Given the description of an element on the screen output the (x, y) to click on. 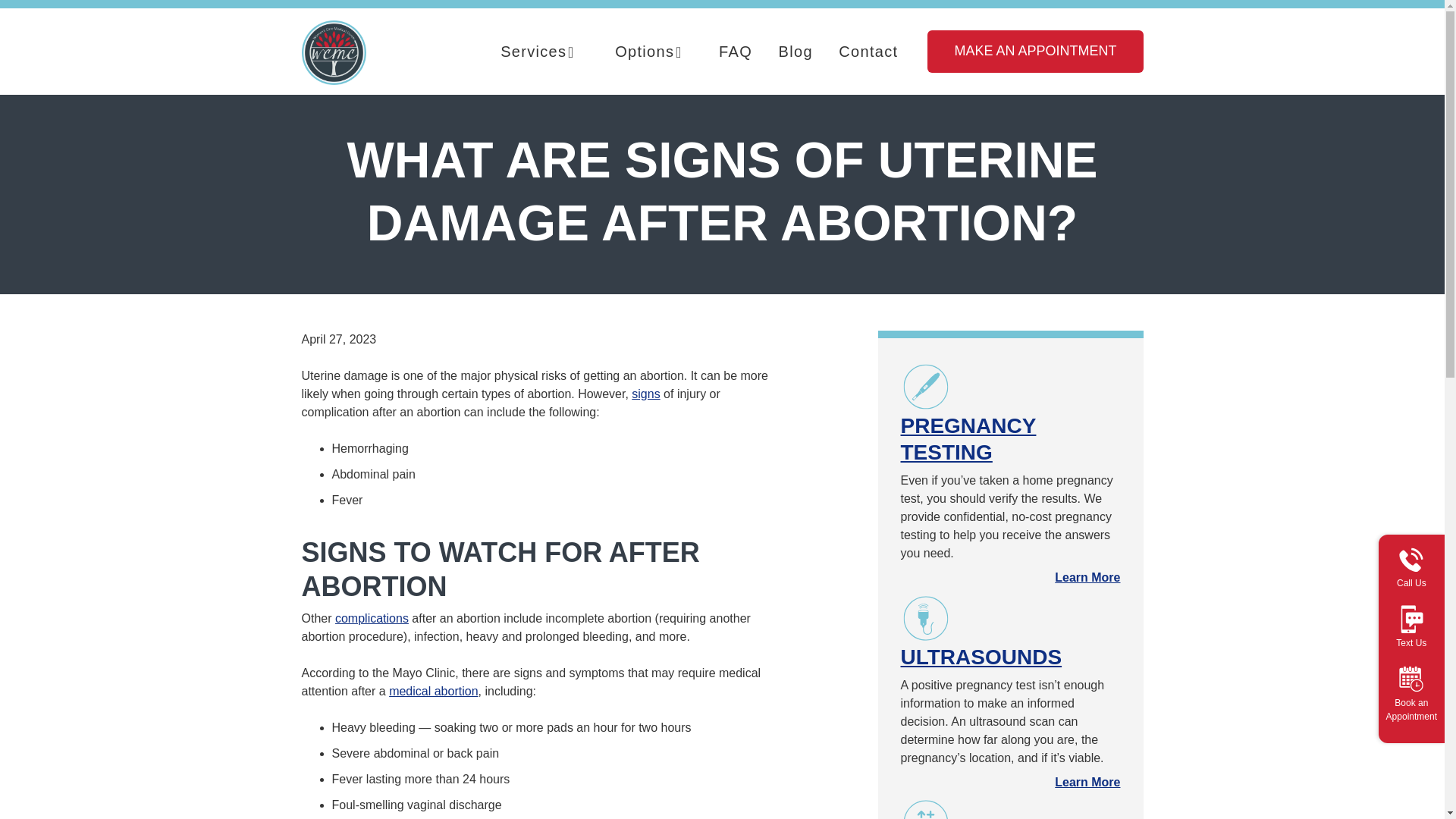
complications (371, 617)
signs (645, 393)
ULTRASOUNDS (981, 657)
Options (648, 51)
MAKE AN APPOINTMENT (1034, 51)
Learn More (1086, 781)
FAQ (734, 51)
FAQ (734, 51)
Contact (867, 51)
Blog (795, 51)
Services (537, 51)
Blog (795, 51)
Services (537, 51)
PREGNANCY TESTING (968, 439)
Contact (867, 51)
